Given the description of an element on the screen output the (x, y) to click on. 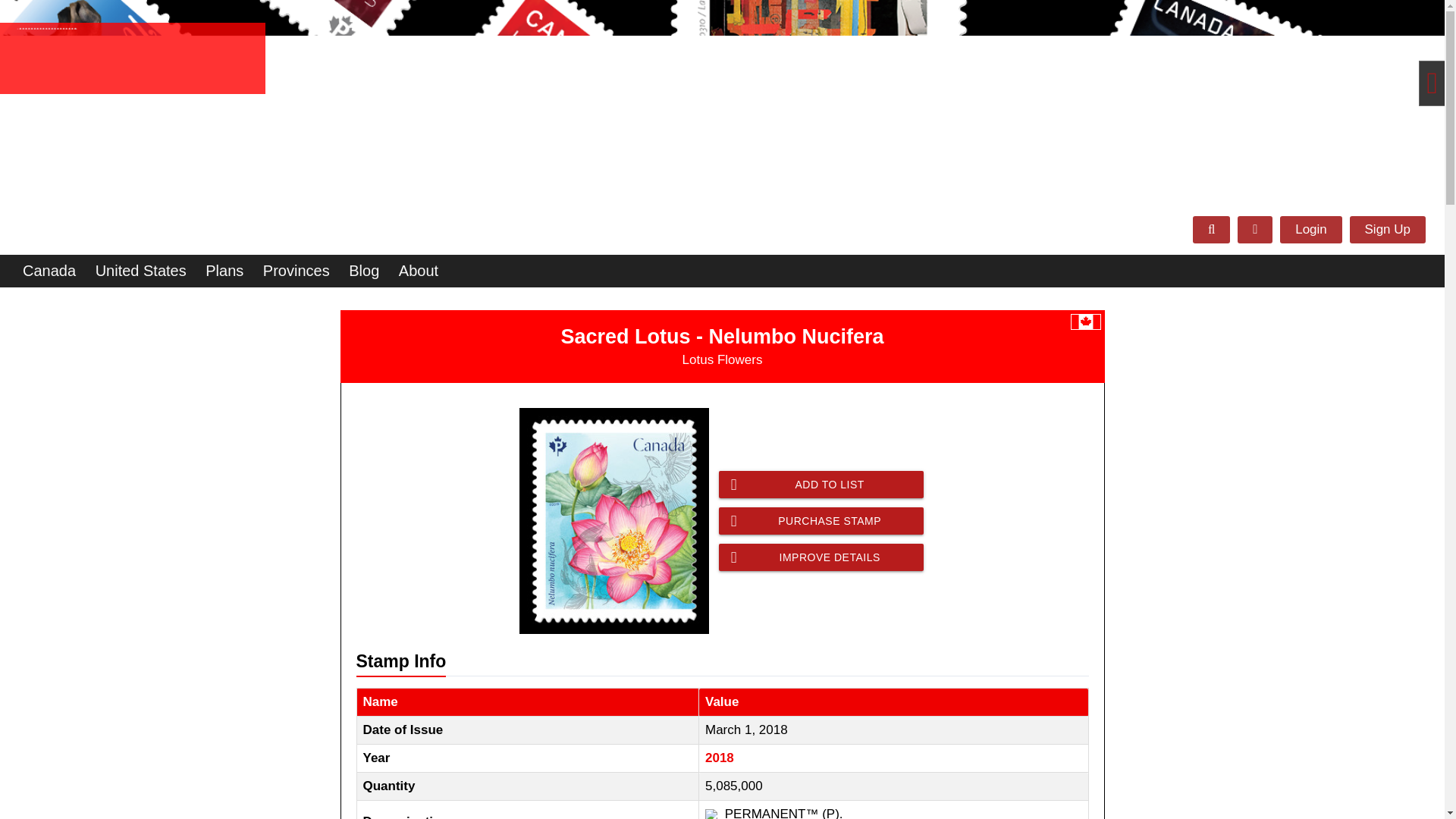
Provinces (296, 270)
Canada (48, 270)
United States (140, 270)
Sign Up (1387, 229)
Blog (363, 270)
PURCHASE STAMP (821, 520)
About (418, 270)
Plans (224, 270)
2018 (718, 757)
IMPROVE DETAILS (821, 556)
